Given the description of an element on the screen output the (x, y) to click on. 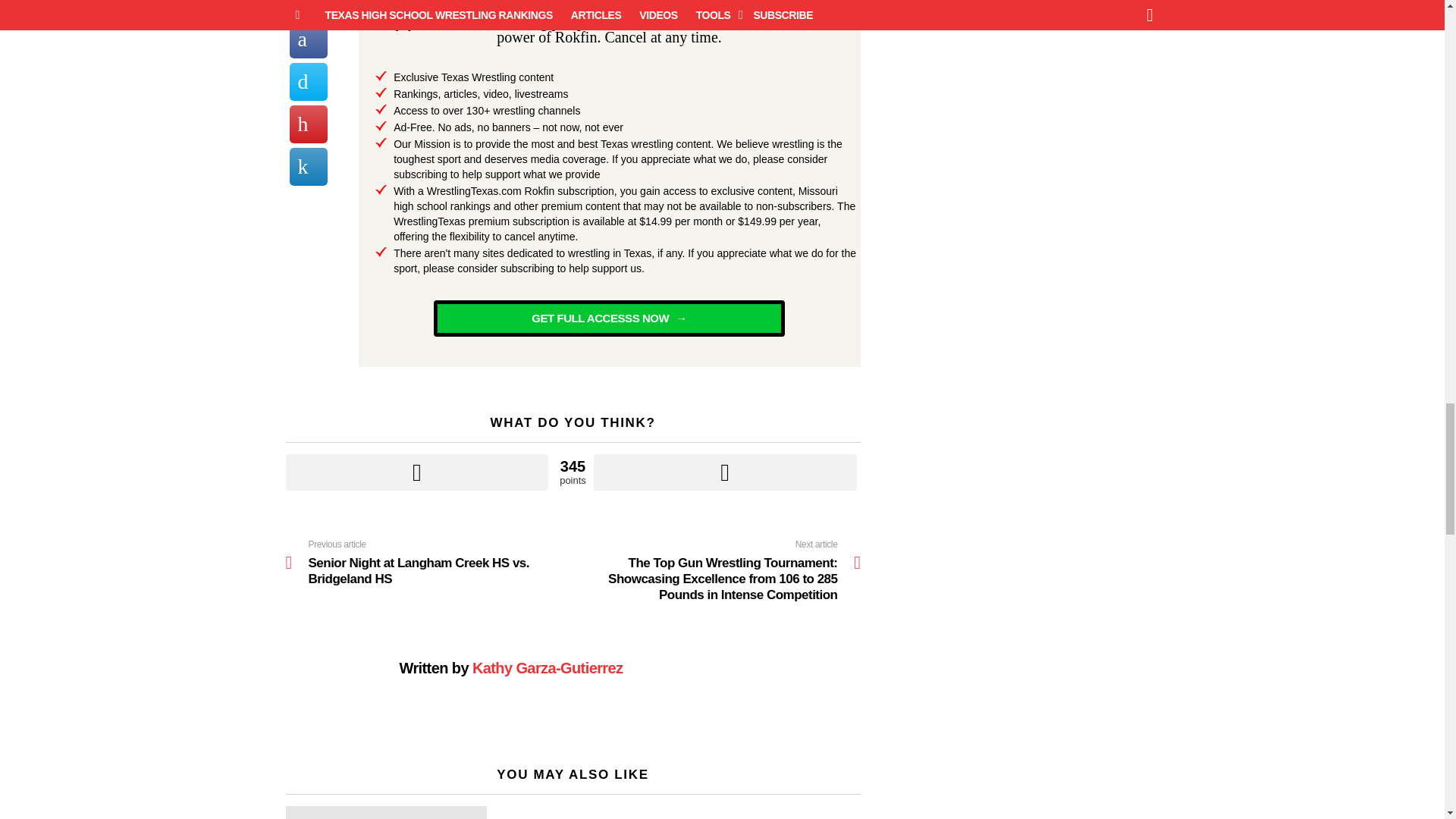
Downvote (725, 472)
Upvote (416, 472)
Upvote (416, 472)
Downvote (725, 472)
GET FULL ACCESSS NOW (608, 318)
